Given the description of an element on the screen output the (x, y) to click on. 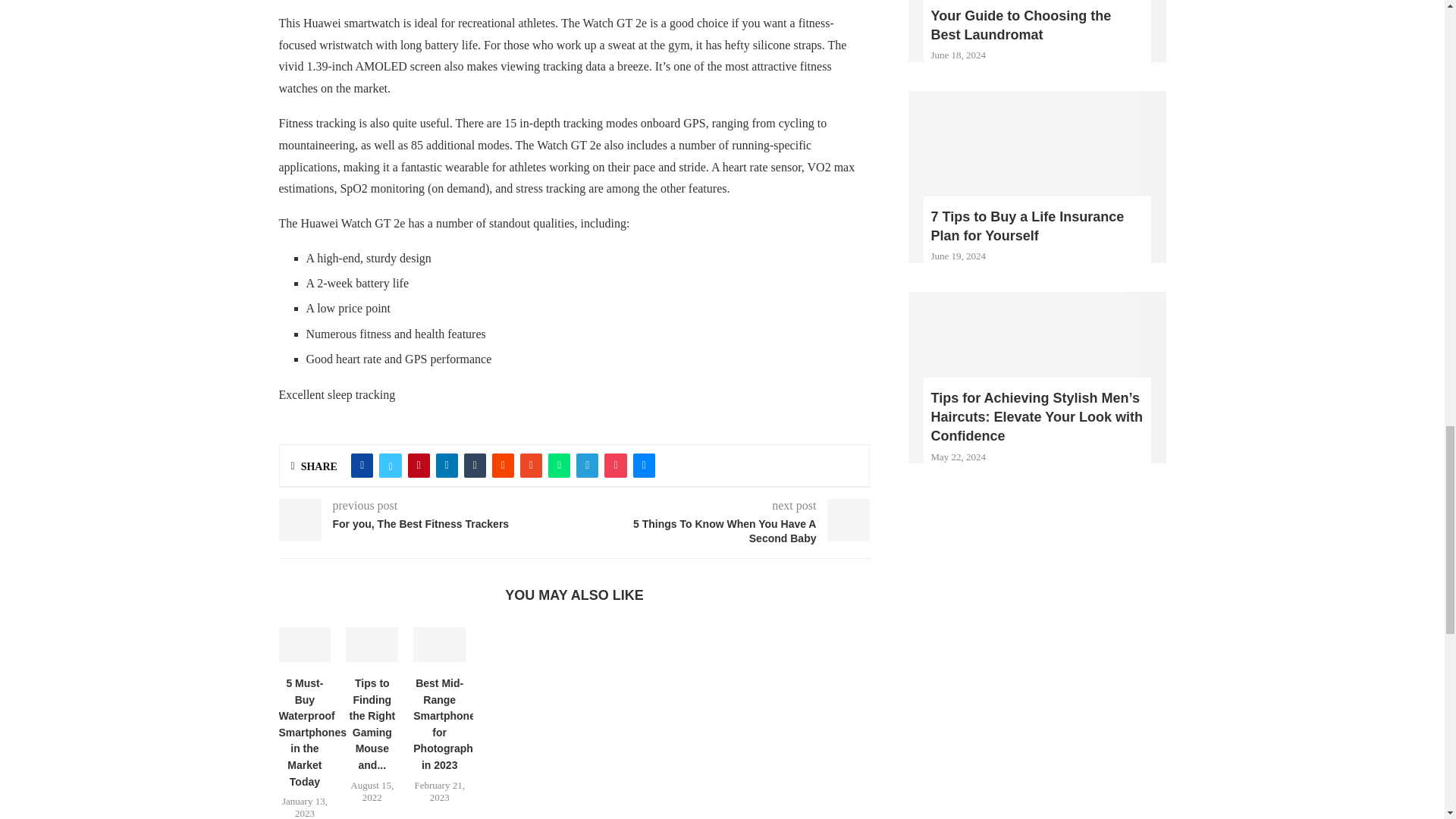
Tips to Finding the Right Gaming Mouse and Keyboard (371, 644)
5 Must-Buy Waterproof Smartphones in the Market Today (305, 644)
Best Mid-Range Smartphone for Photography in 2023 (439, 644)
